Given the description of an element on the screen output the (x, y) to click on. 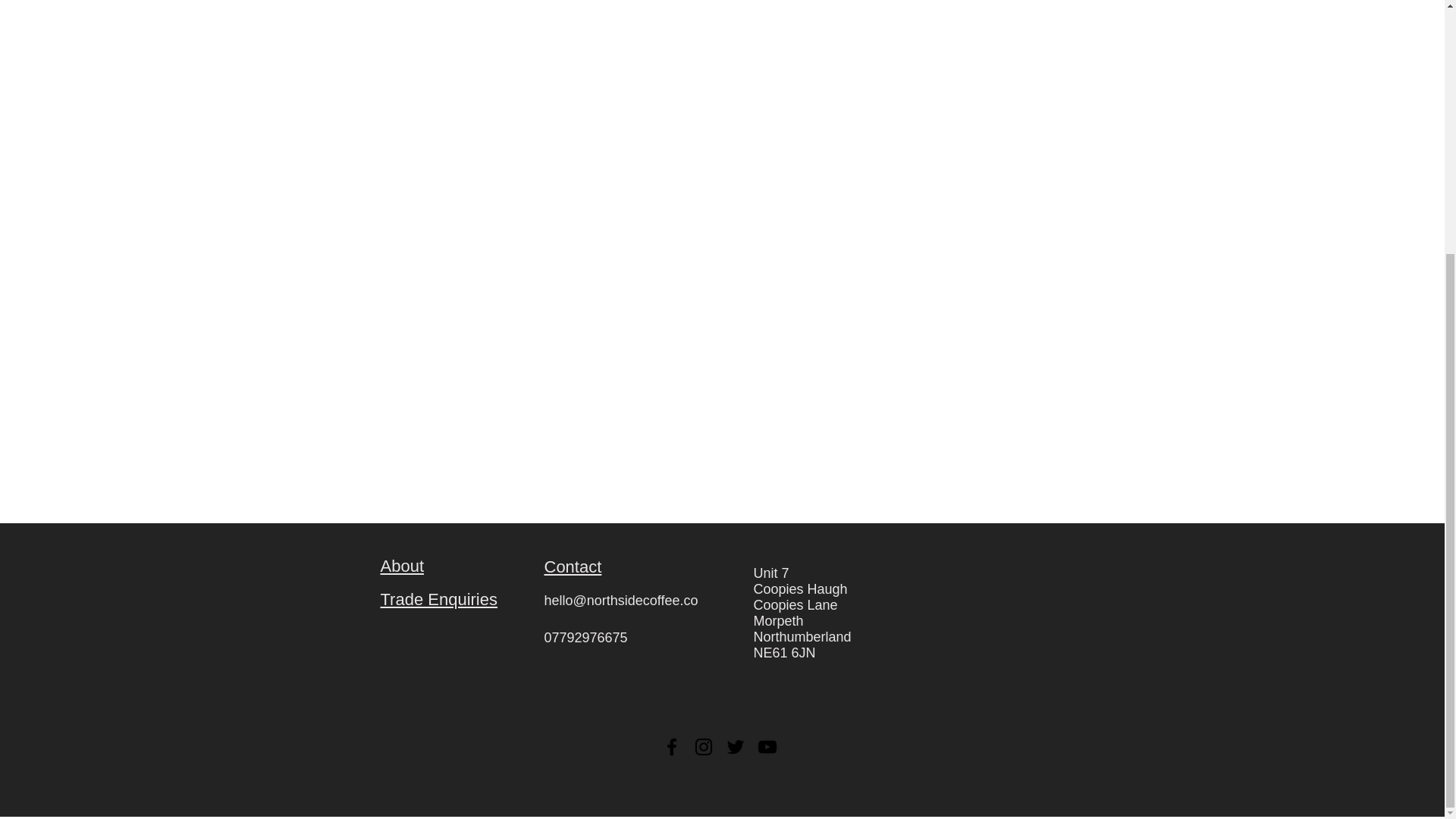
Trade Enquiries (438, 599)
Contact (573, 566)
About (402, 565)
